Given the description of an element on the screen output the (x, y) to click on. 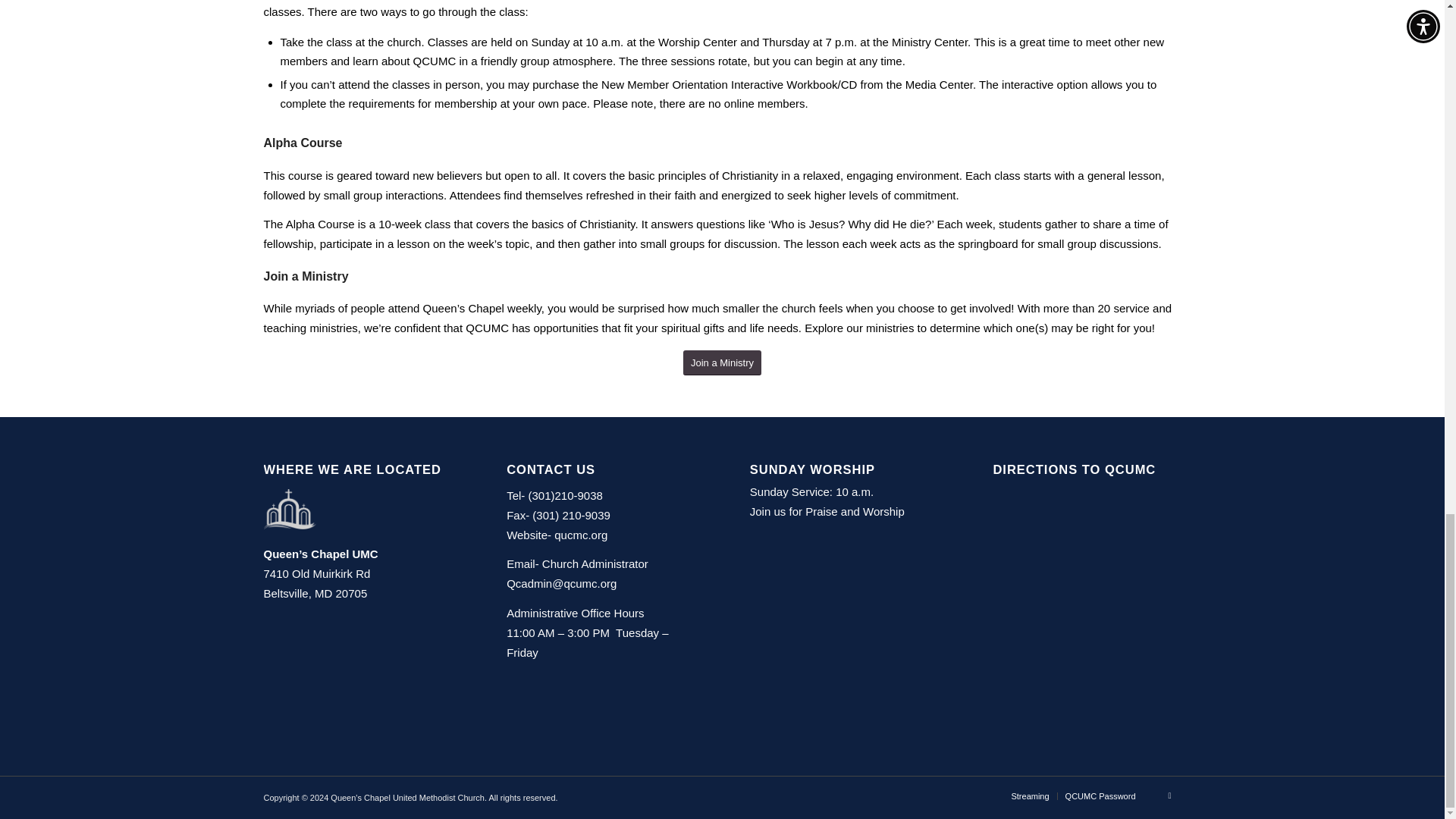
Facebook (1169, 794)
